Given the description of an element on the screen output the (x, y) to click on. 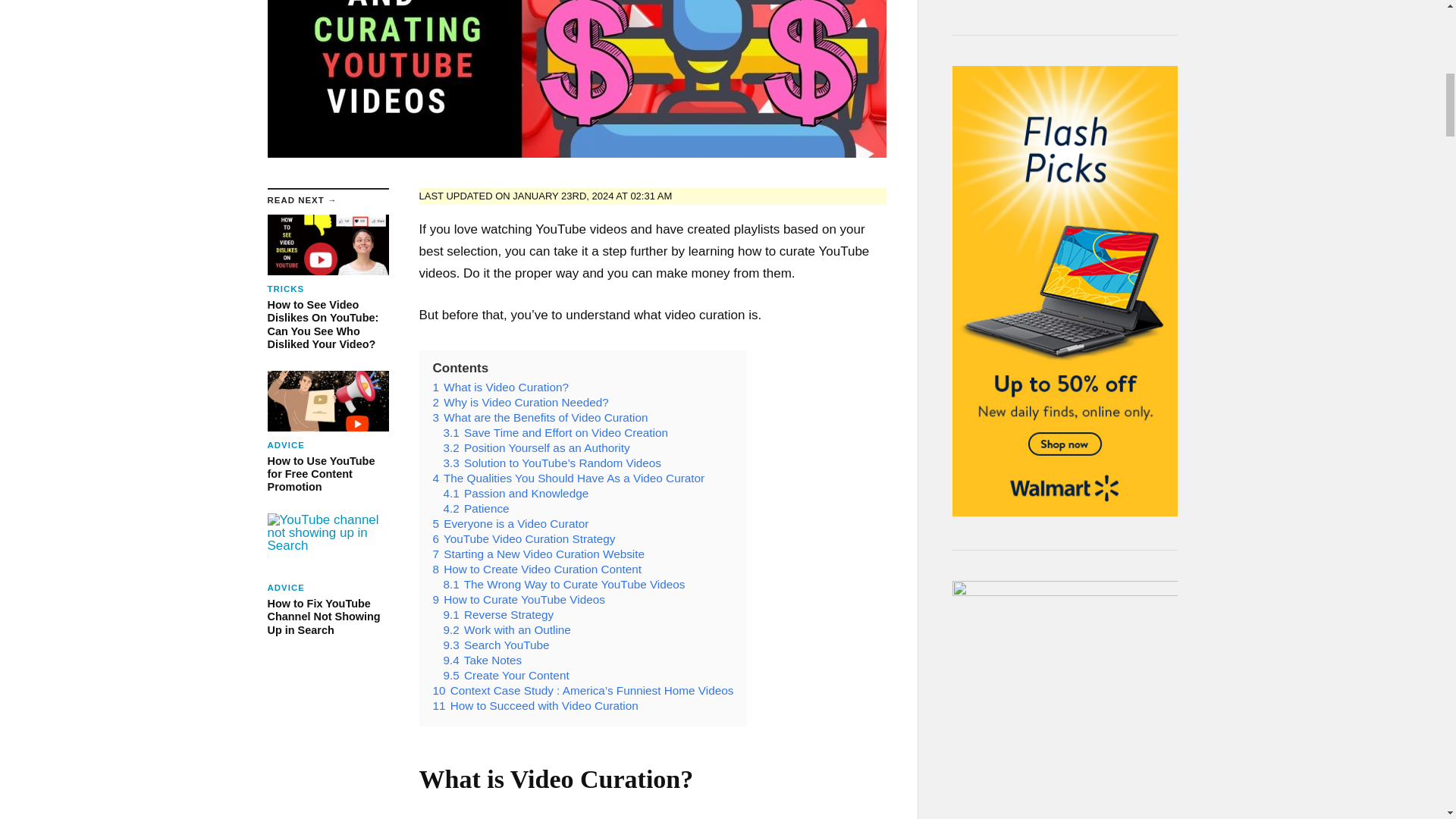
8.1 The Wrong Way to Curate YouTube Videos (563, 584)
3.1 Save Time and Effort on Video Creation (555, 431)
3.2 Position Yourself as an Authority (535, 447)
5 Everyone is a Video Curator (510, 522)
2 Why is Video Curation Needed? (520, 401)
4.1 Passion and Knowledge (515, 492)
4.2 Patience (475, 508)
4 The Qualities You Should Have As a Video Curator (568, 477)
3 What are the Benefits of Video Curation (539, 417)
6 YouTube Video Curation Strategy (523, 538)
8 How to Create Video Curation Content (327, 432)
1 What is Video Curation? (537, 568)
7 Starting a New Video Curation Website (499, 386)
